Given the description of an element on the screen output the (x, y) to click on. 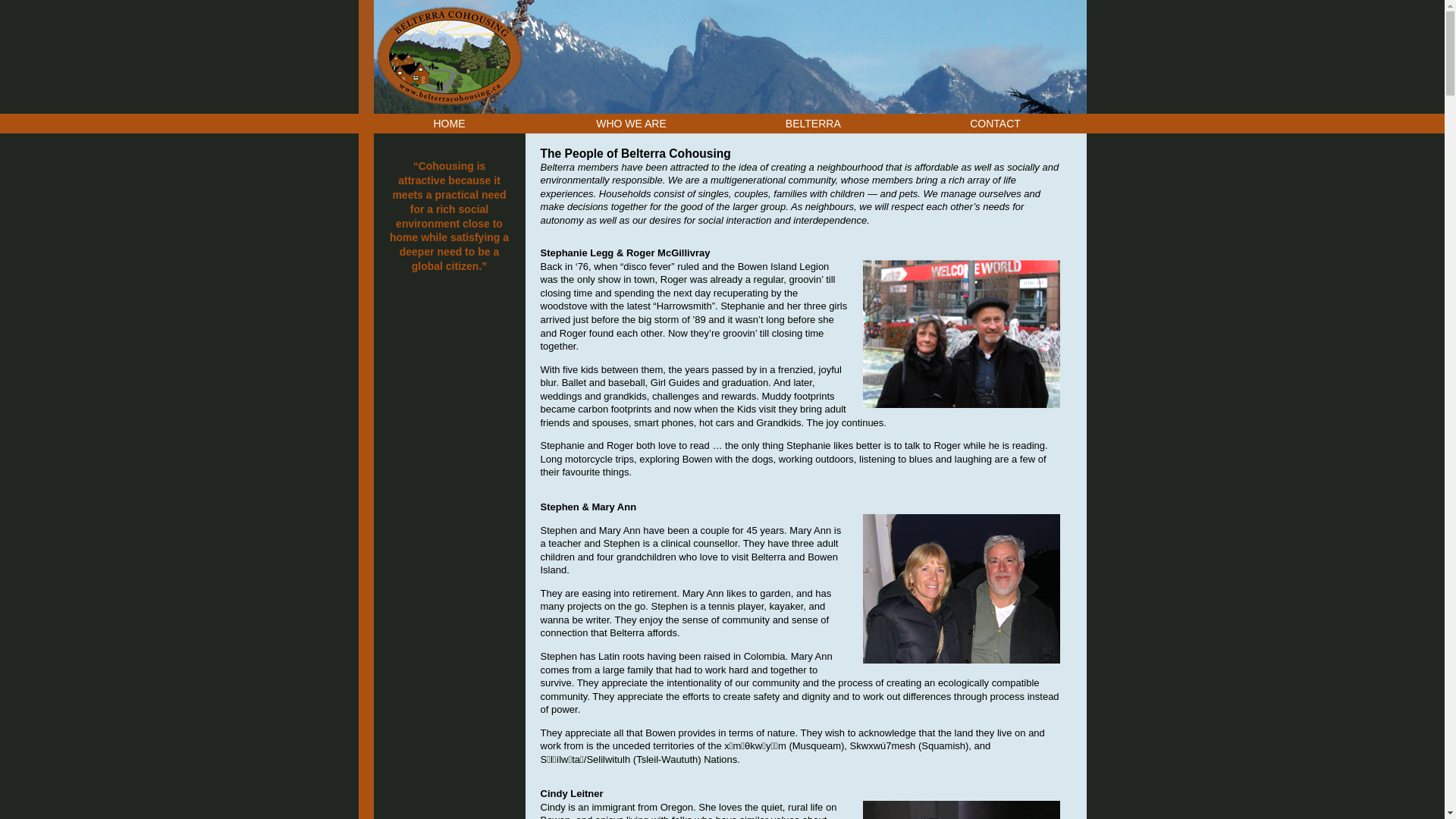
HOME Element type: text (449, 123)
WHO WE ARE Element type: text (631, 123)
CONTACT Element type: text (994, 123)
BELTERRA Element type: text (813, 123)
